Given the description of an element on the screen output the (x, y) to click on. 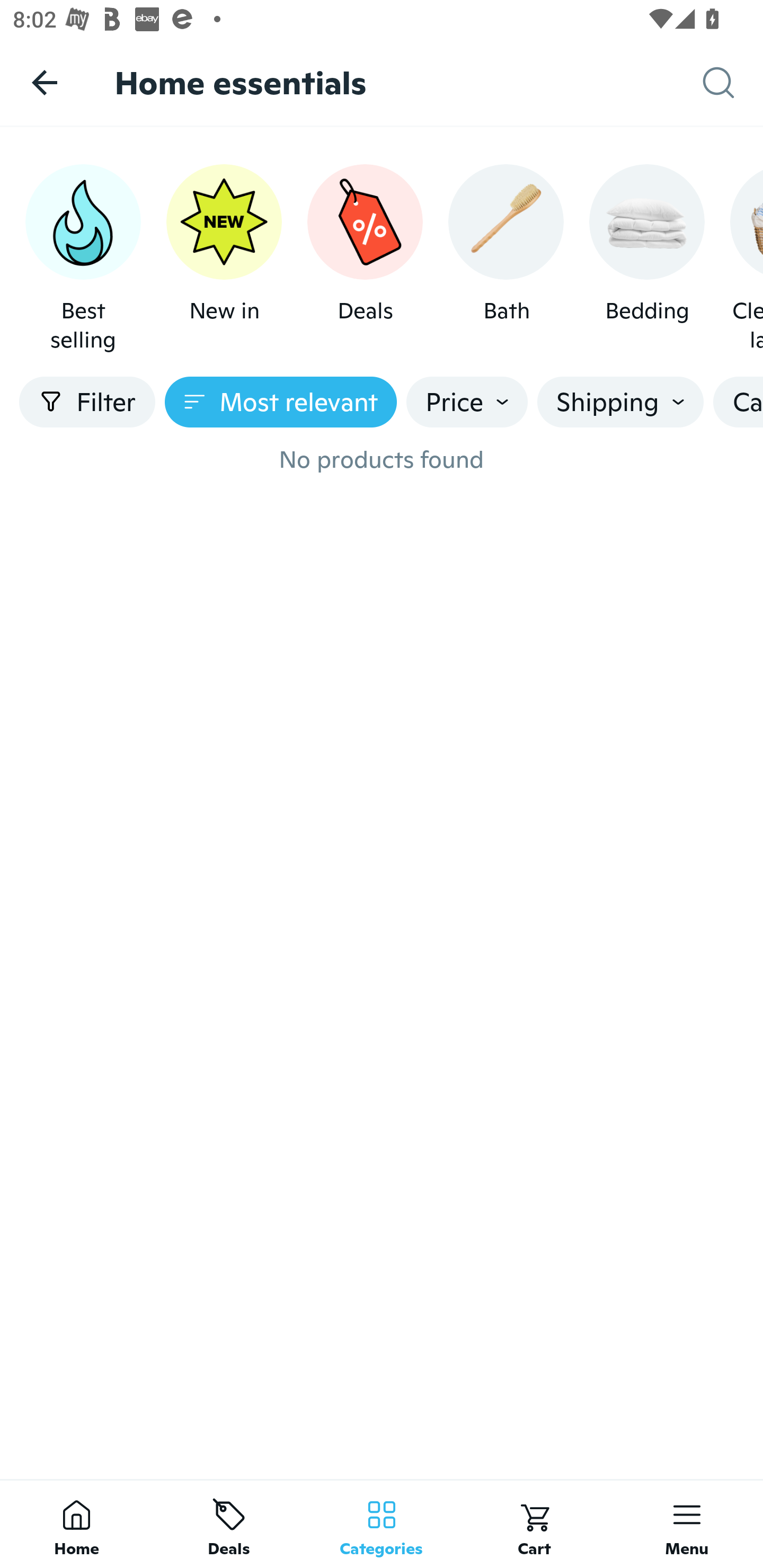
Navigate up (44, 82)
Search (732, 82)
Best selling (83, 259)
New in (223, 259)
Deals (364, 259)
Bath (505, 259)
Bedding (647, 259)
Filter (86, 402)
Most relevant (280, 402)
Price (466, 402)
Shipping (620, 402)
Home (76, 1523)
Deals (228, 1523)
Categories (381, 1523)
Cart (533, 1523)
Menu (686, 1523)
